Given the description of an element on the screen output the (x, y) to click on. 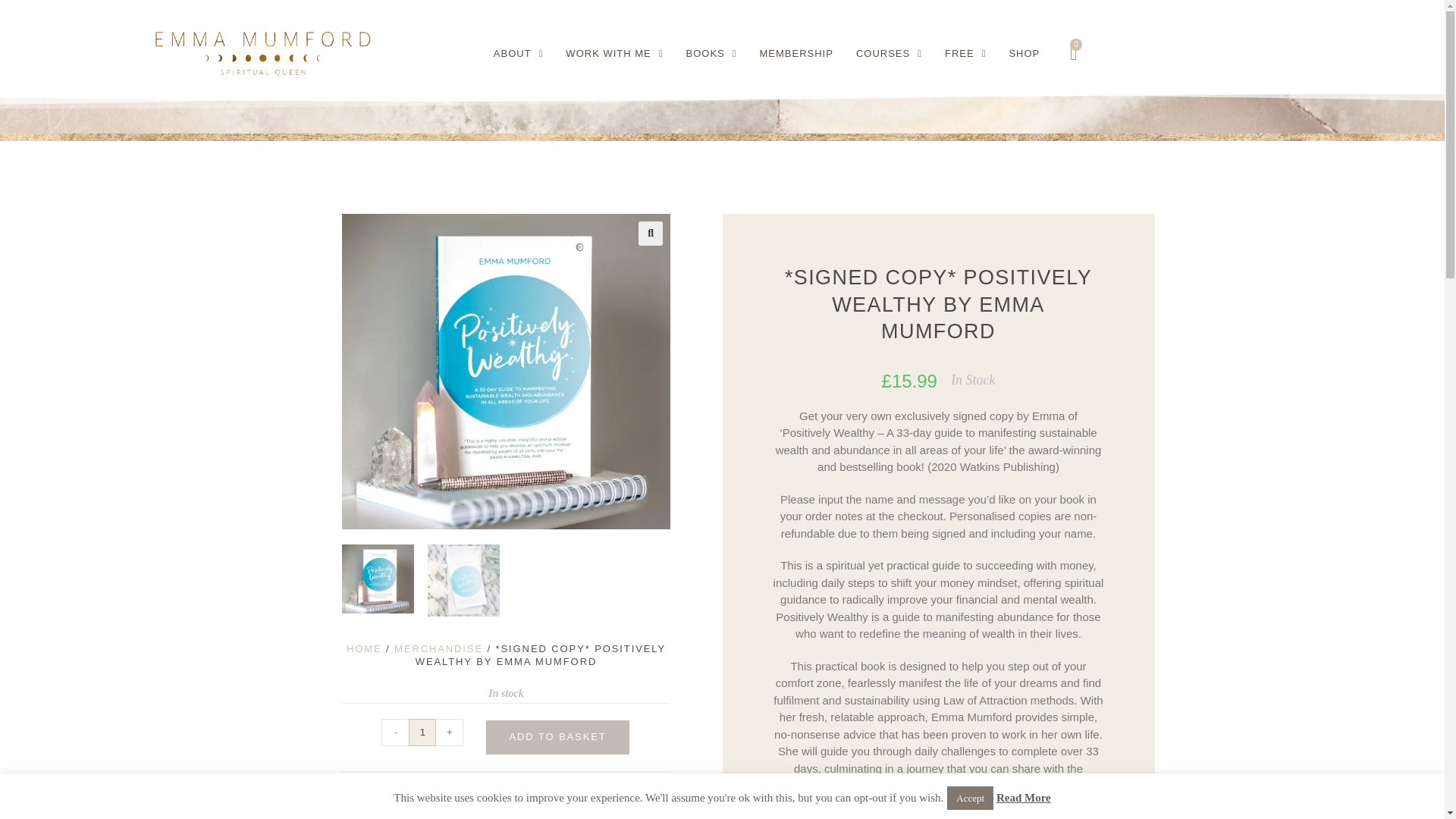
COURSES (888, 52)
SHOP (1024, 52)
Positively Wealthy by Emma Mumford (505, 370)
WORK WITH ME (614, 52)
BOOKS (711, 52)
FREE (965, 52)
ABOUT (517, 52)
MEMBERSHIP (796, 52)
1 (422, 732)
Qty (422, 732)
